Given the description of an element on the screen output the (x, y) to click on. 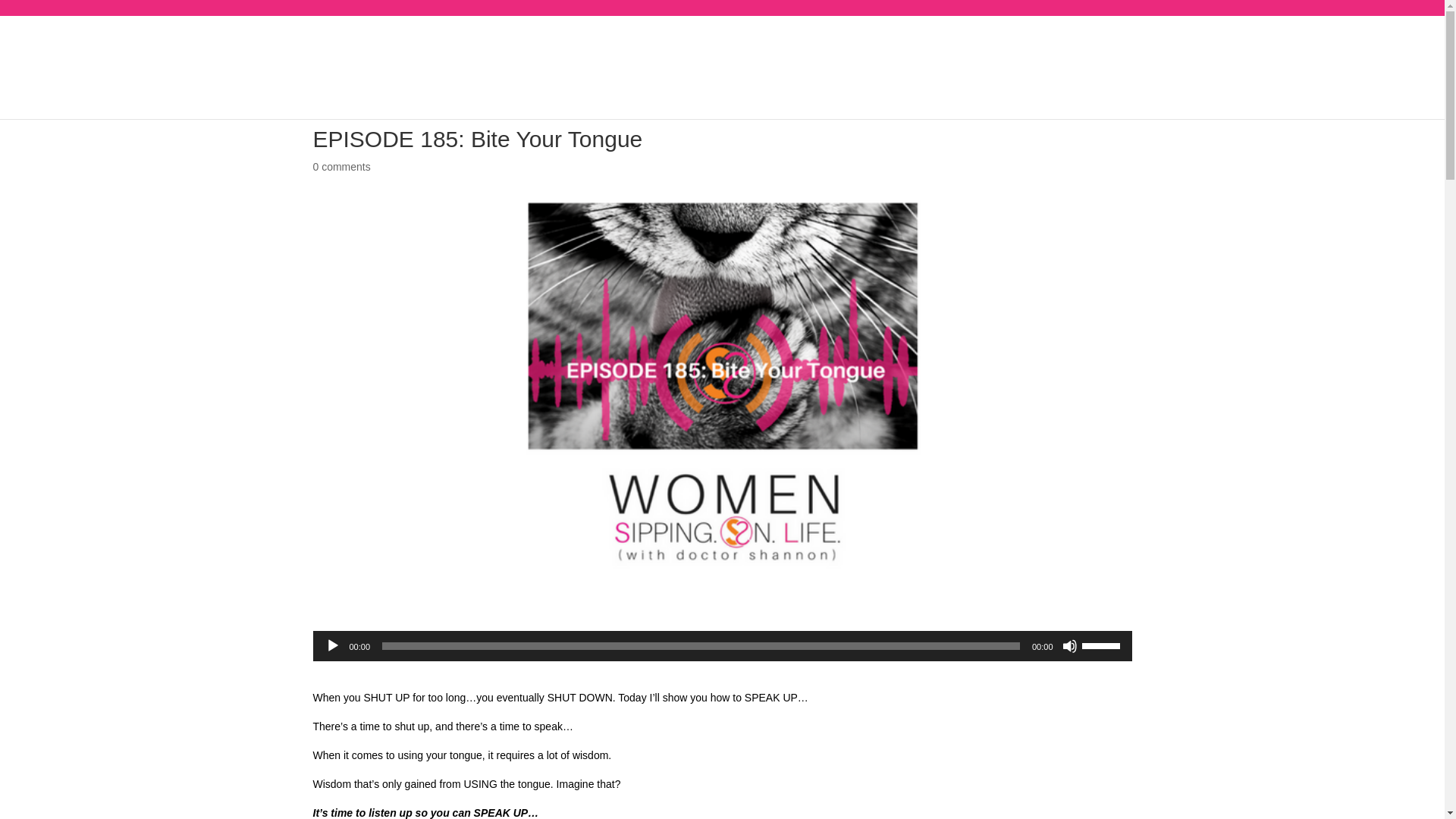
Mute (1069, 645)
PODCAST EPISODES (448, 100)
DATE YOURSELF WELL 7-DAY CHALLENGE (722, 65)
PODCAST ARCHIVES (1192, 65)
5-Part Series On CHANGE (525, 65)
WOMEN SIPPING ON LIFE PODCAST (116, 100)
5-Part Series On Caring For And Protecting Your Heart (302, 65)
0 comments (341, 166)
Date Yourself Well Challenge (302, 100)
Play (331, 645)
